Given the description of an element on the screen output the (x, y) to click on. 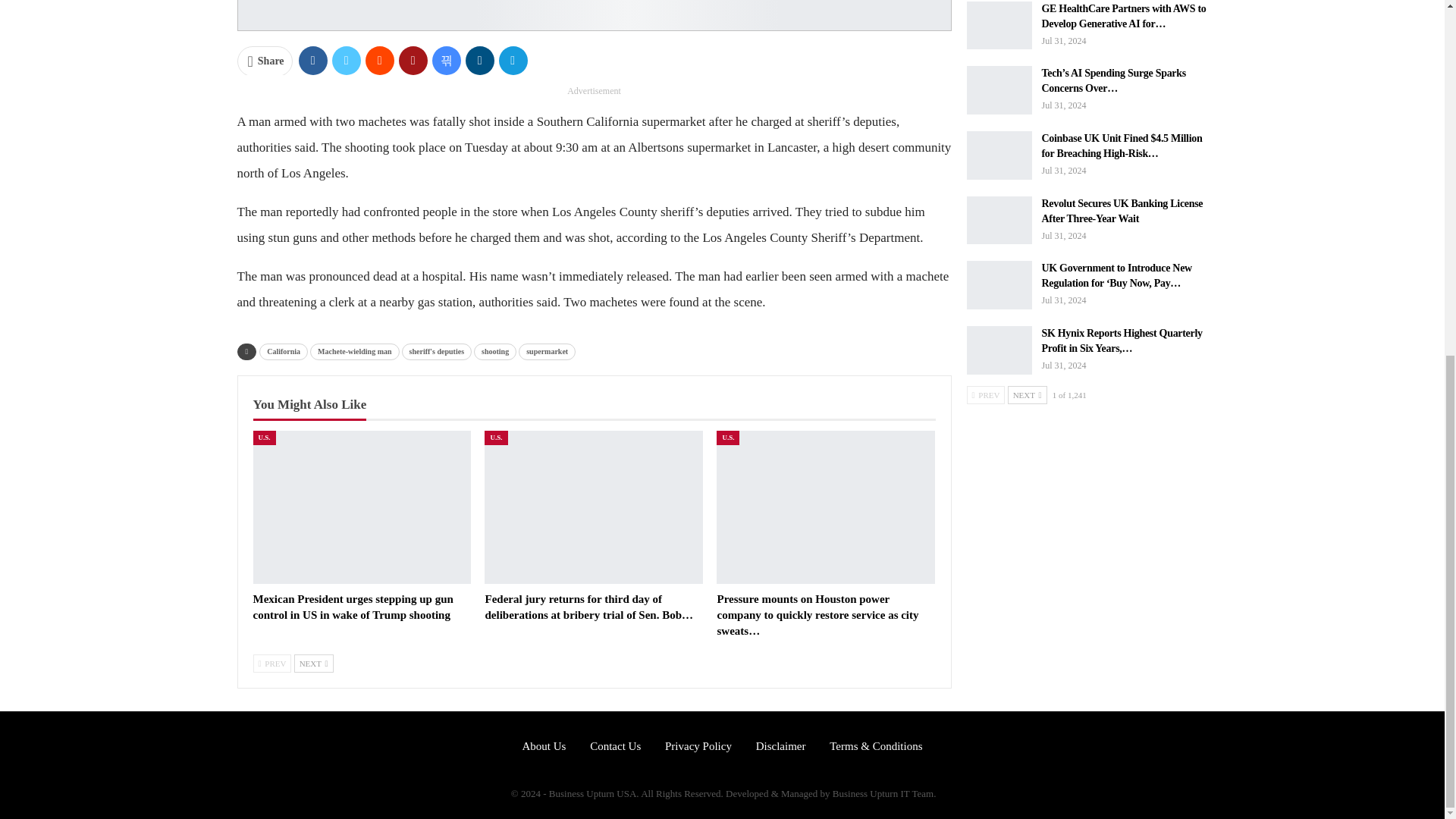
Previous (272, 663)
Next (313, 663)
